Given the description of an element on the screen output the (x, y) to click on. 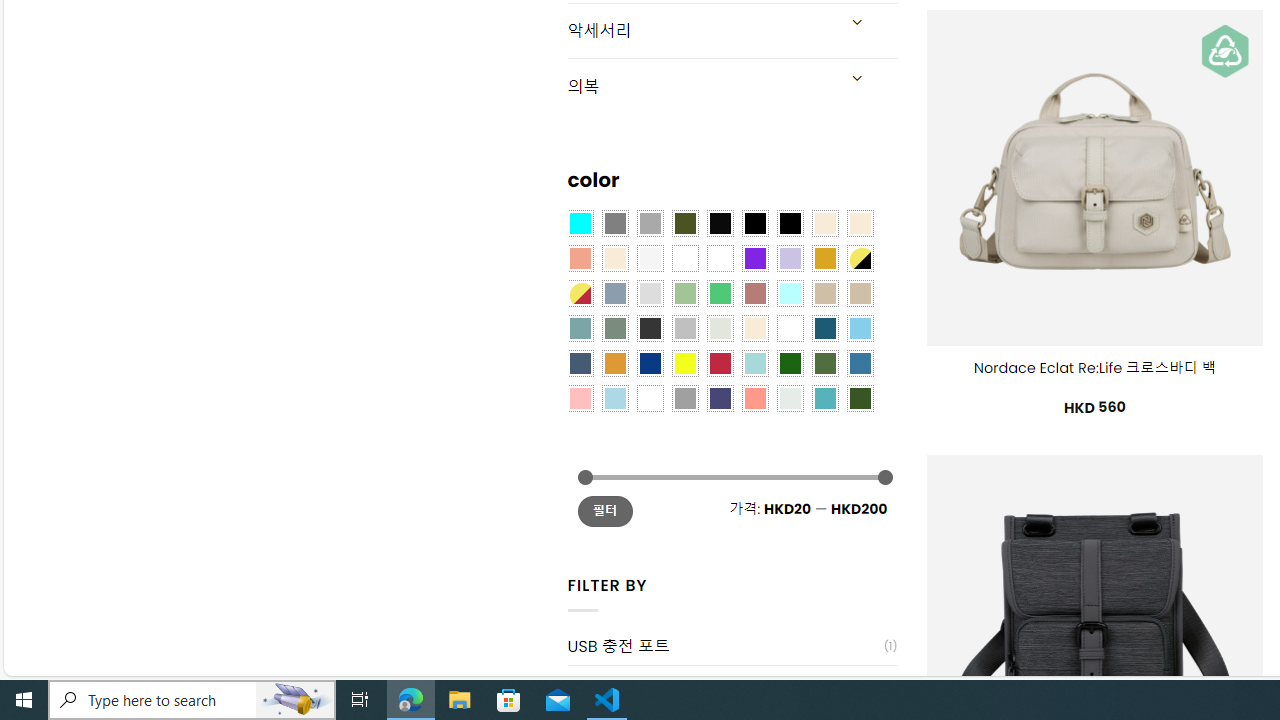
Purple (755, 257)
